Given the description of an element on the screen output the (x, y) to click on. 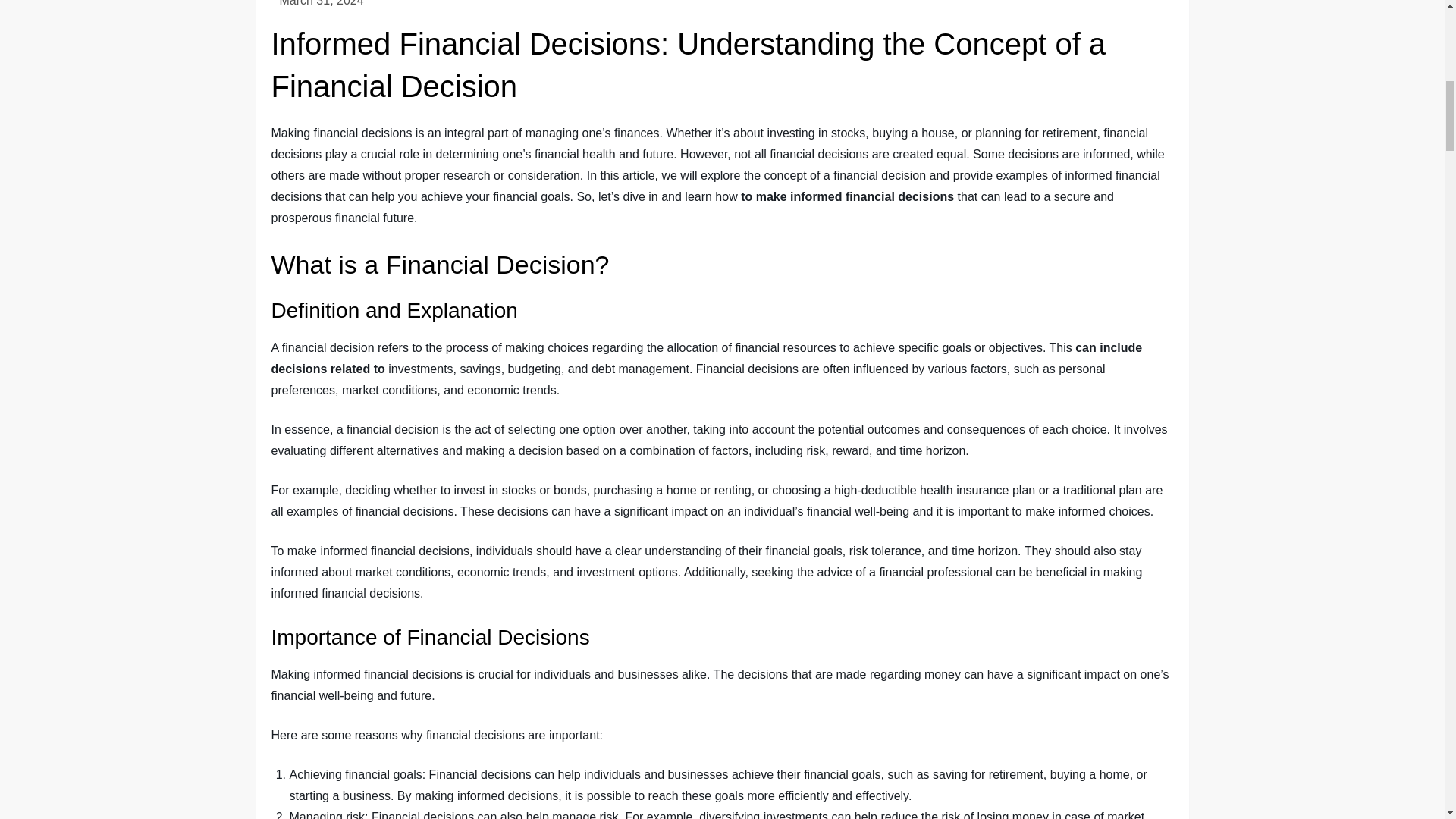
March 31, 2024 (320, 3)
